Given the description of an element on the screen output the (x, y) to click on. 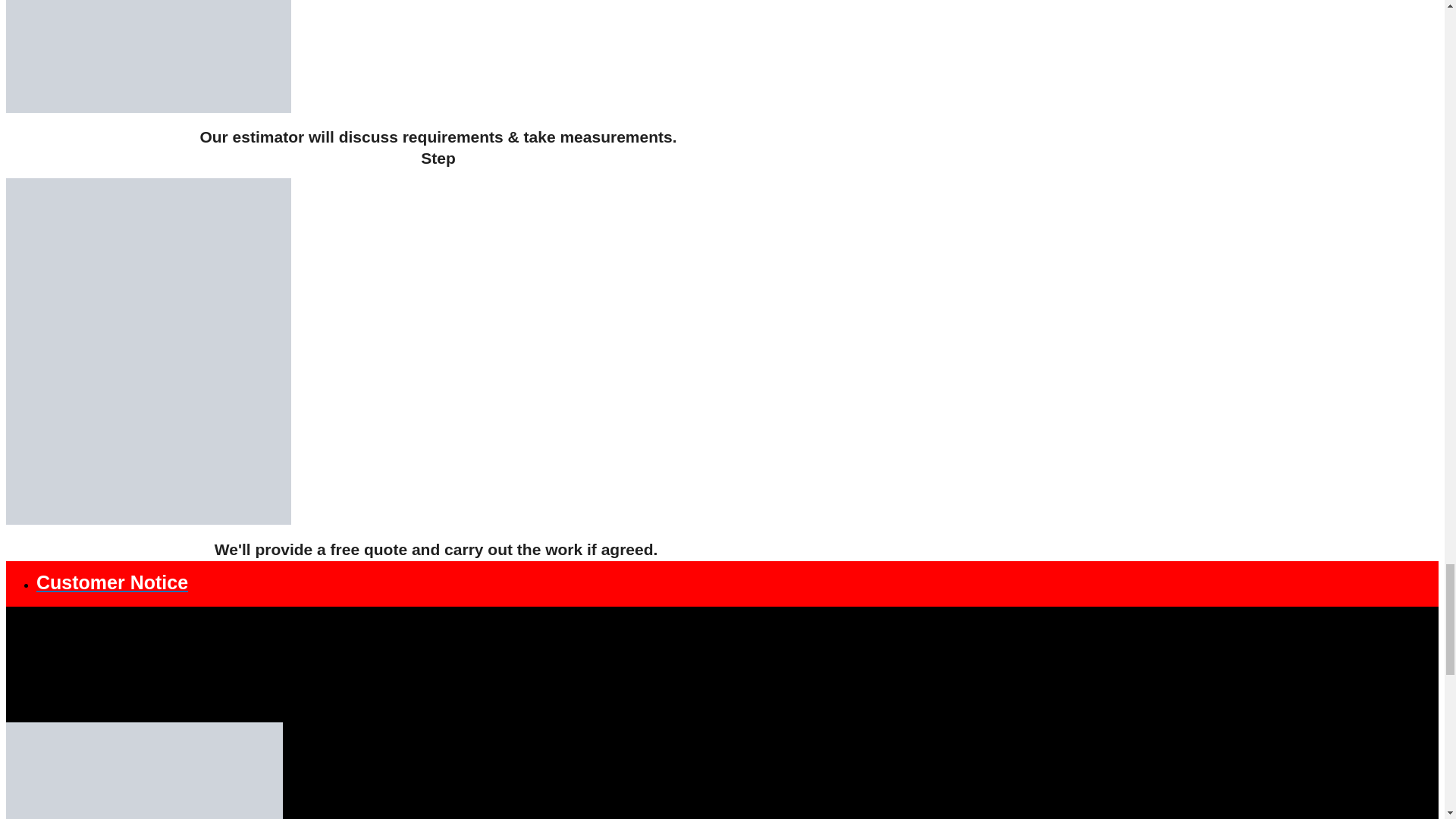
Customer Notice (111, 581)
